Given the description of an element on the screen output the (x, y) to click on. 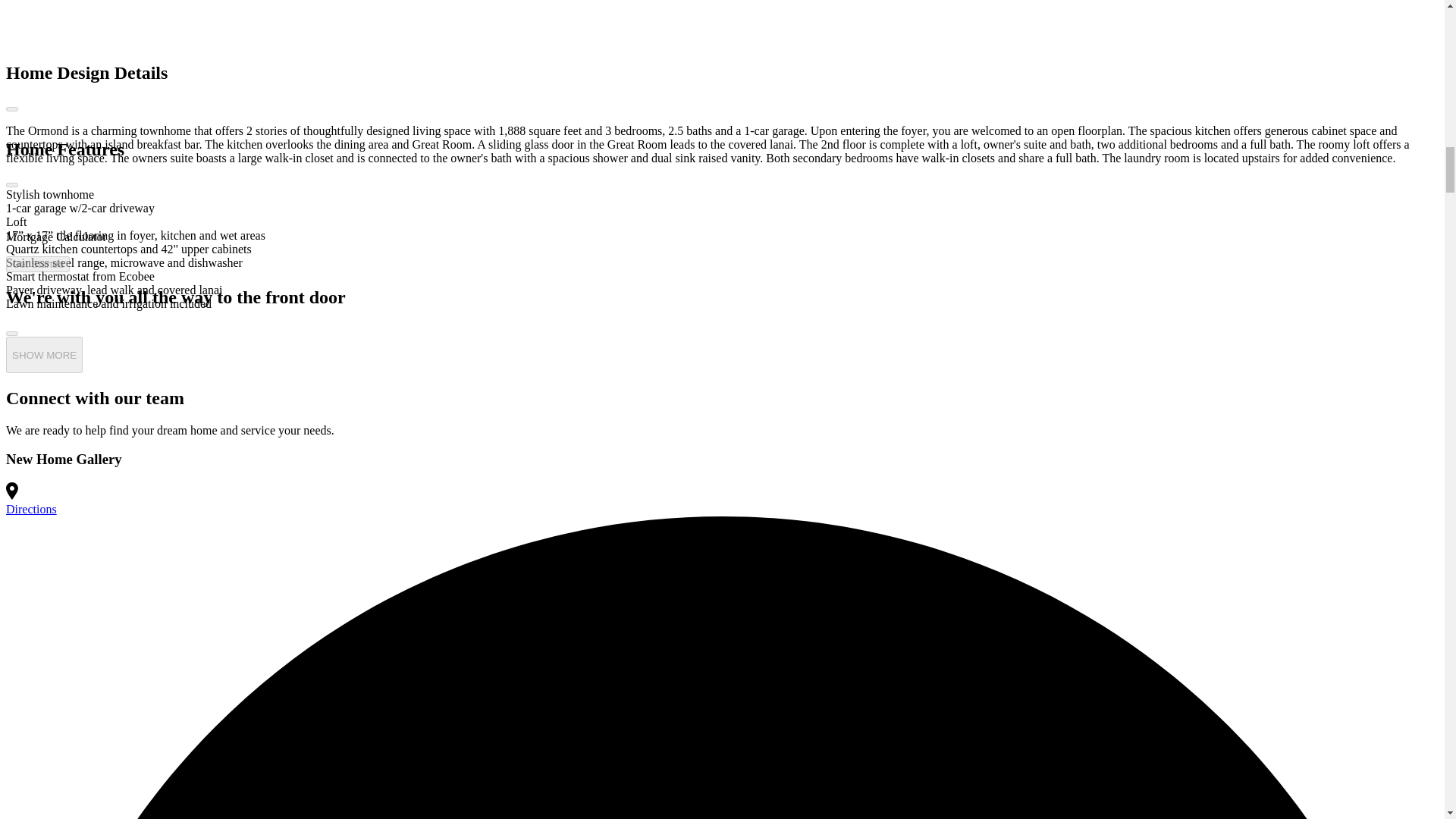
Directions (30, 508)
SHOW MORE (43, 354)
Get Started (37, 263)
